Given the description of an element on the screen output the (x, y) to click on. 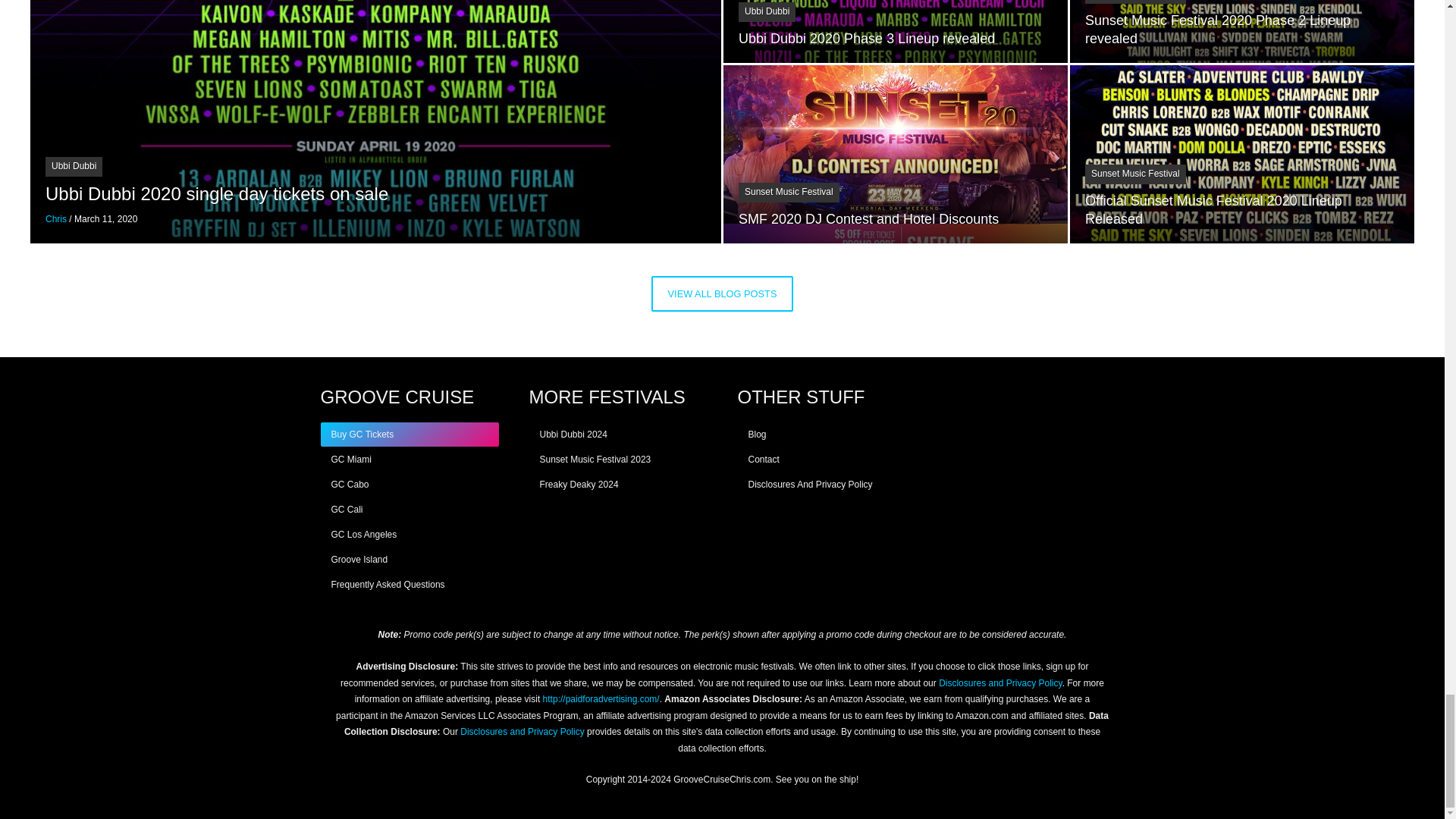
Ubbi Dubbi 2020 Phase 3 Lineup revealed (866, 38)
Ubbi Dubbi 2020 single day tickets on sale (216, 193)
Sunset Music Festival 2020 Phase 2 Lineup revealed (1217, 29)
SMF 2020 DJ Contest and Hotel Discounts (868, 218)
Official Sunset Music Festival 2020 Lineup Released (1213, 209)
